Given the description of an element on the screen output the (x, y) to click on. 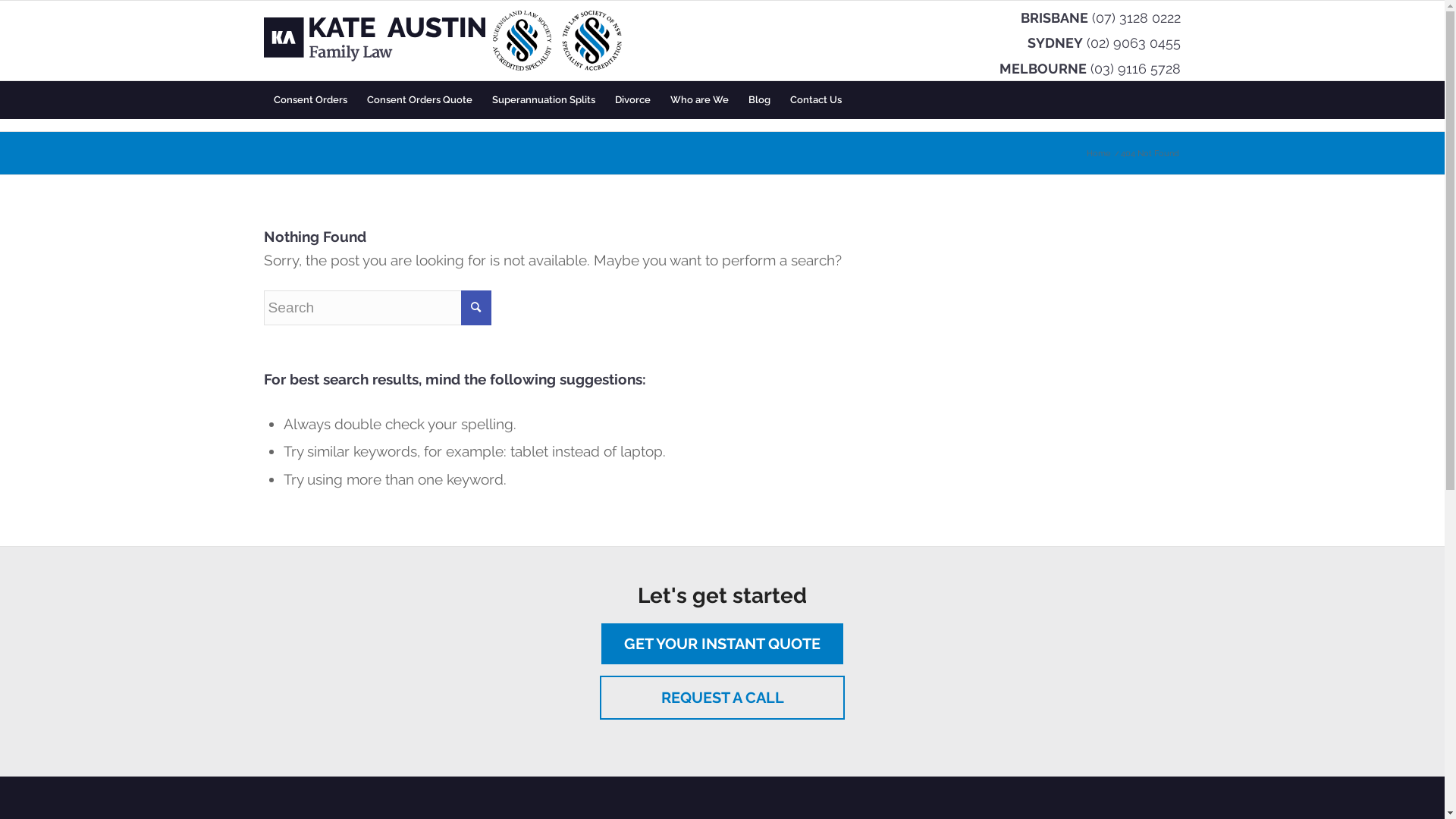
Who are We Element type: text (698, 100)
BRISBANE (07) 3128 0222 Element type: text (1100, 16)
MELBOURNE (03) 9116 5728 Element type: text (1089, 67)
Consent Orders Quote Element type: text (418, 100)
REQUEST A CALL Element type: text (721, 697)
Consent Orders Element type: text (310, 100)
Home Element type: text (1098, 153)
GET YOUR INSTANT QUOTE Element type: text (722, 643)
SYDNEY (02) 9063 0455 Element type: text (1103, 41)
Superannuation Splits Element type: text (543, 100)
Blog Element type: text (759, 100)
Contact Us Element type: text (814, 100)
Divorce Element type: text (632, 100)
